Given the description of an element on the screen output the (x, y) to click on. 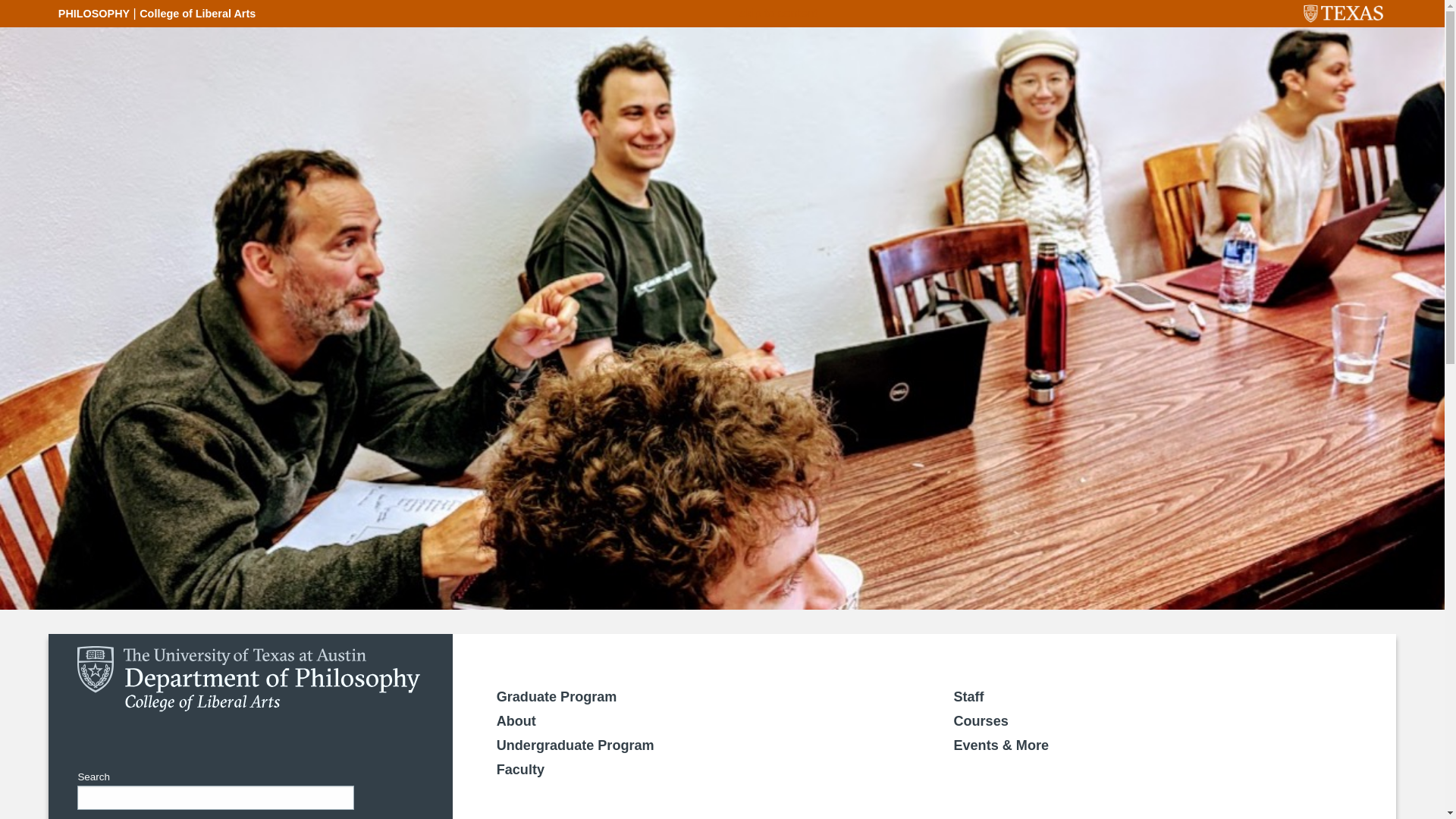
About (515, 720)
College of Liberal Arts (197, 13)
skip to content (777, 13)
PHILOSOPHY (93, 13)
Graduate Program (556, 696)
Staff (968, 696)
Faculty (520, 769)
Courses (980, 720)
Undergraduate Program (574, 744)
